Given the description of an element on the screen output the (x, y) to click on. 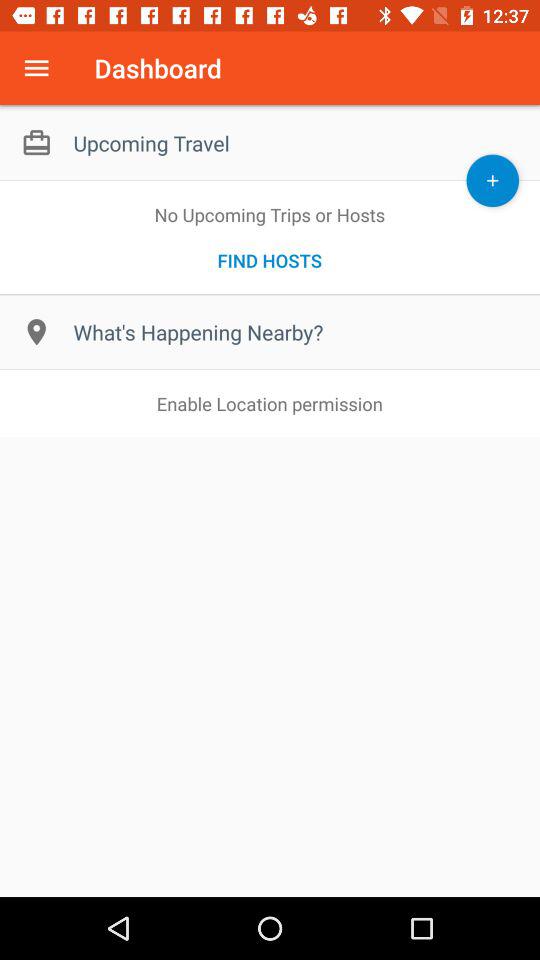
open app menu (36, 68)
